Given the description of an element on the screen output the (x, y) to click on. 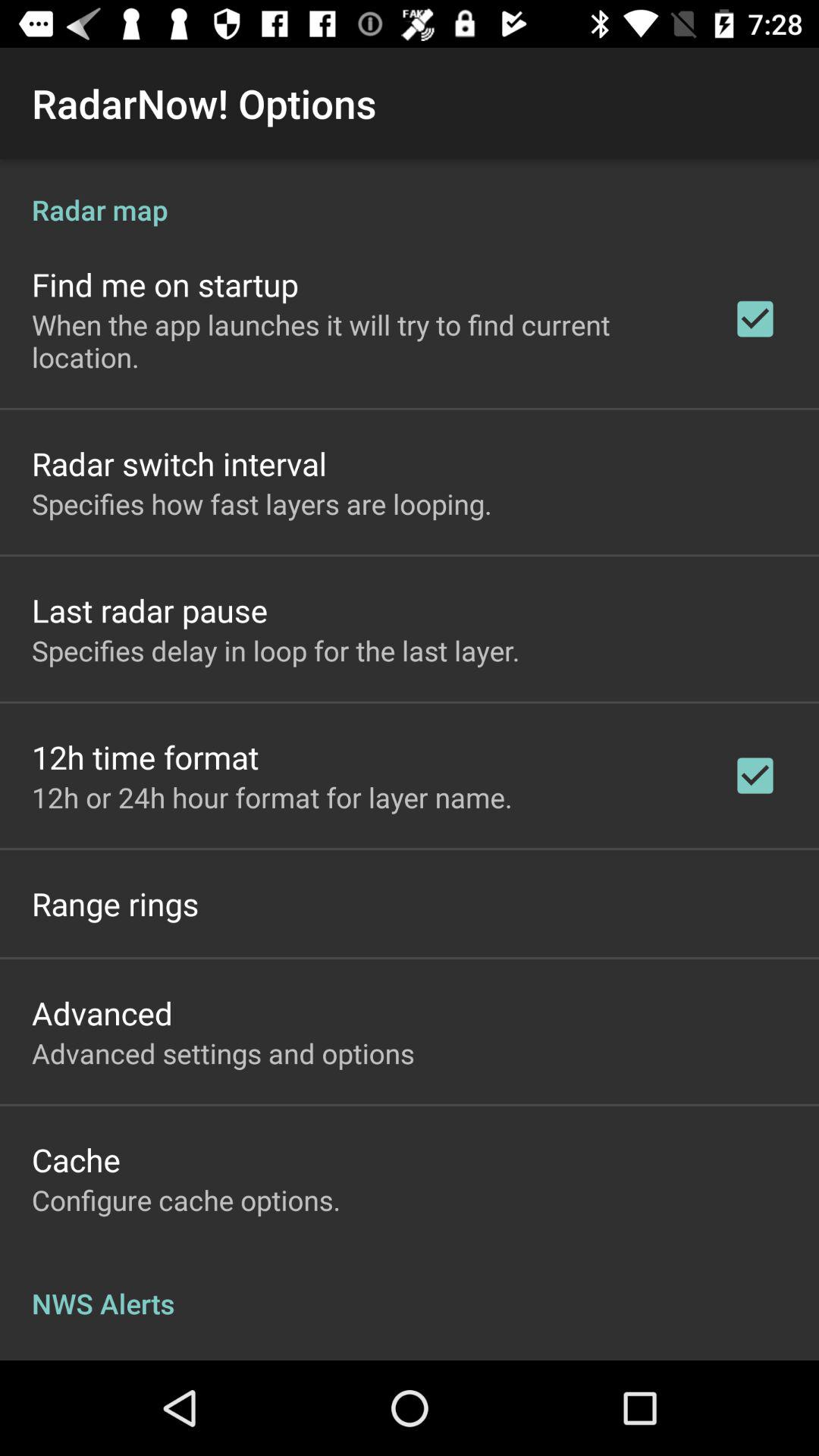
jump until last radar pause item (149, 609)
